Given the description of an element on the screen output the (x, y) to click on. 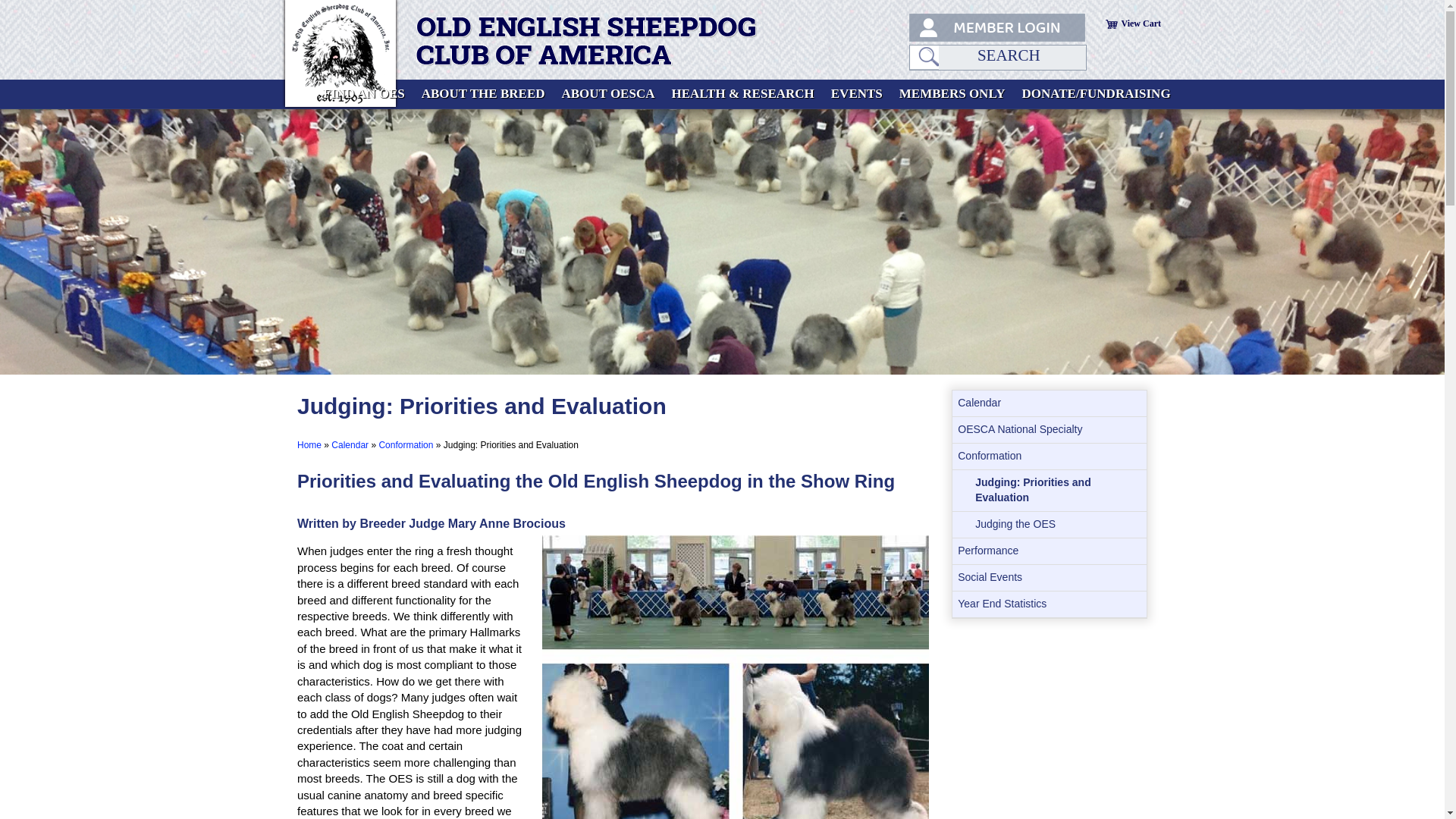
View Cart (1139, 23)
FIND AN OES (368, 93)
ABOUT OESCA (608, 93)
EVENTS (856, 93)
ABOUT THE BREED (483, 93)
Search for: (1012, 57)
